Given the description of an element on the screen output the (x, y) to click on. 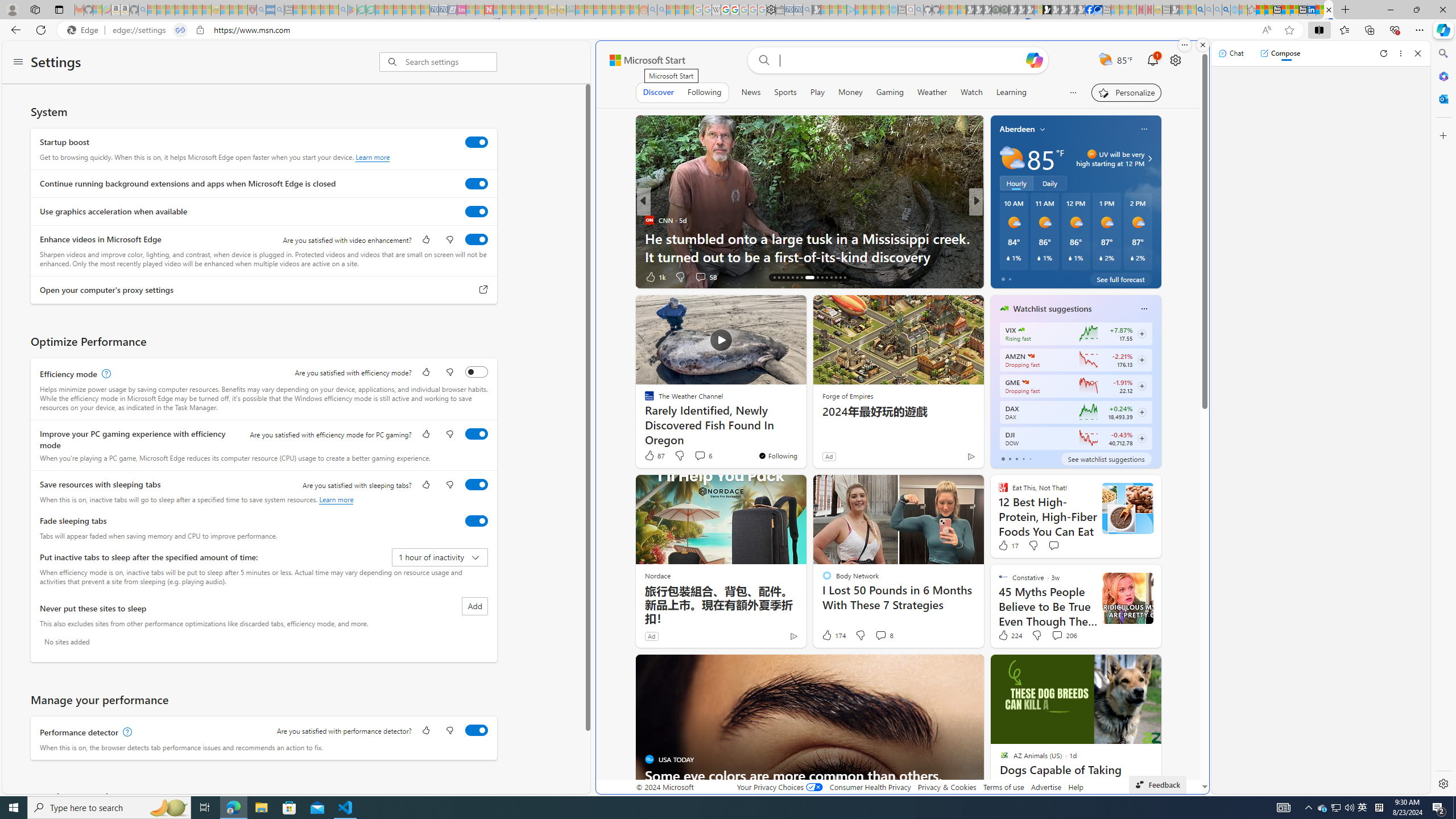
StarsInsider (999, 238)
Microsoft-Report a Concern to Bing - Sleeping (97, 9)
Close Outlook pane (1442, 98)
AutomationID: tab-27 (831, 277)
AutomationID: tab-17 (778, 277)
Microsoft Start - Sleeping (876, 9)
Start the conversation (1053, 545)
News (750, 92)
Feedback (1157, 784)
Trusted Community Engagement and Contributions | Guidelines (497, 9)
Weather (931, 92)
